Given the description of an element on the screen output the (x, y) to click on. 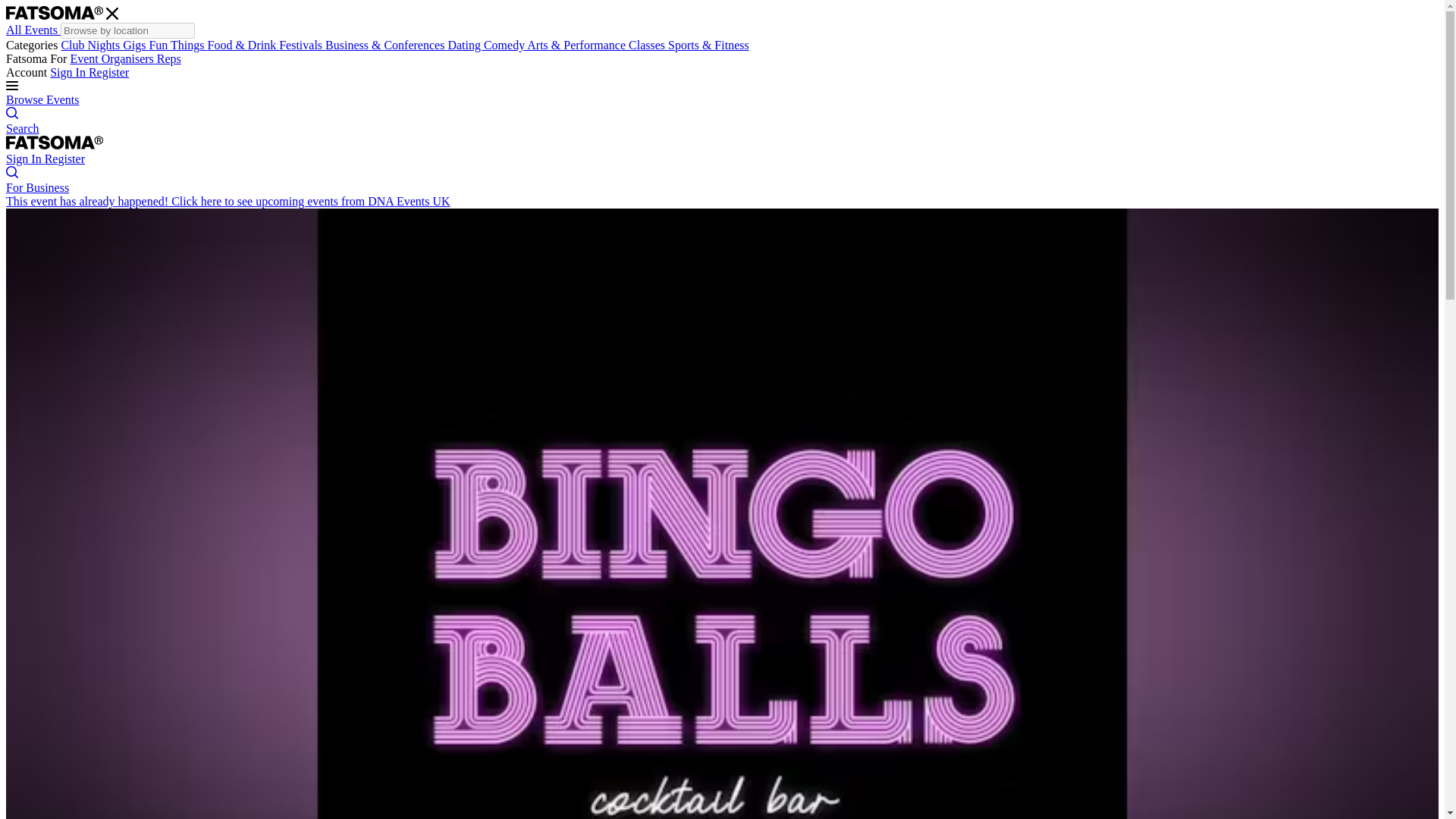
Classes (648, 44)
Event Organisers (112, 58)
For Business (36, 187)
Festivals (301, 44)
Fatsoma (54, 12)
Dating (464, 44)
Register (108, 72)
Gigs (135, 44)
Fatsoma (54, 144)
Register (64, 158)
All Events (33, 29)
Sign In (25, 158)
Reps (168, 58)
Fatsoma (54, 142)
Comedy (505, 44)
